Given the description of an element on the screen output the (x, y) to click on. 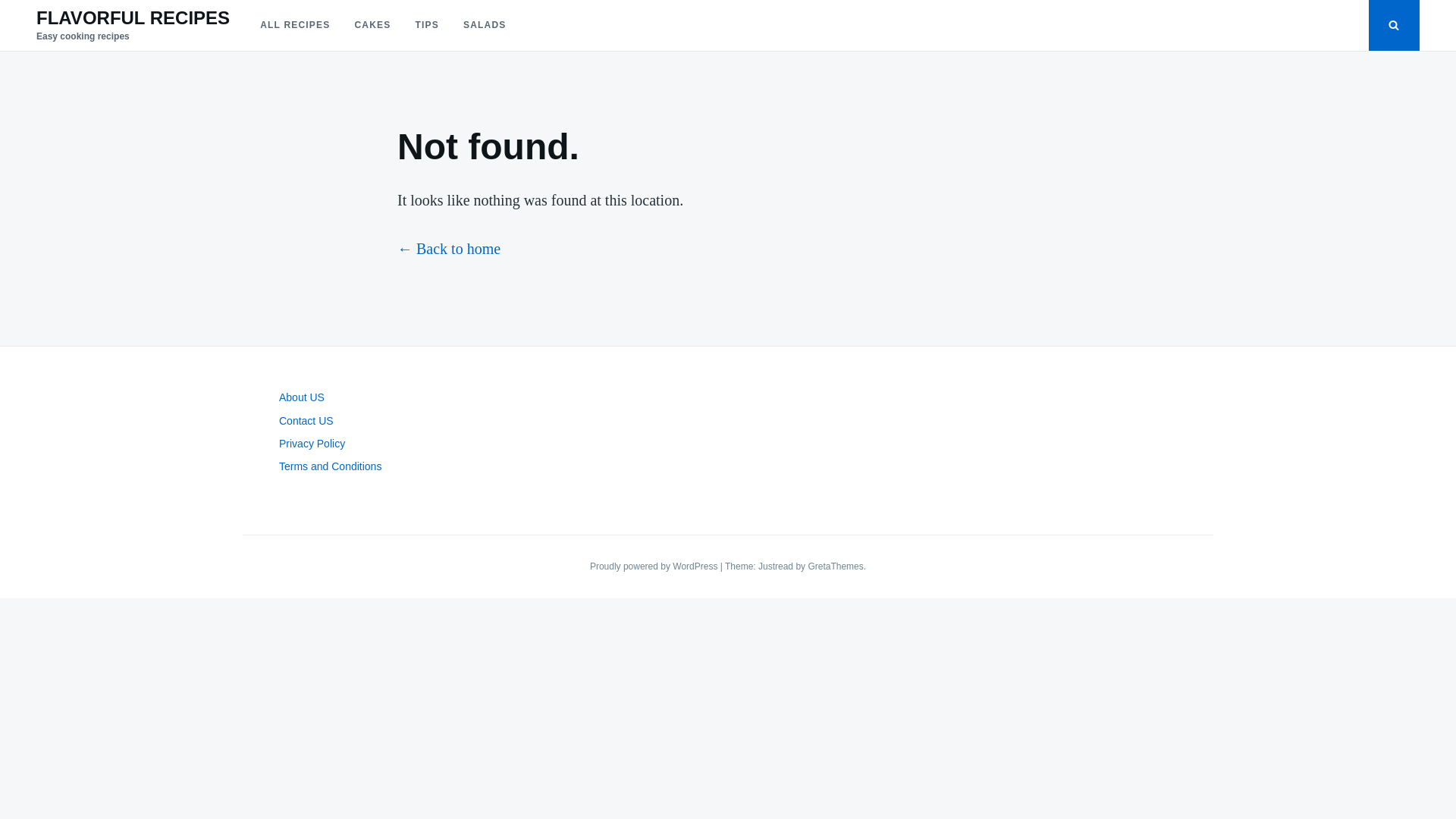
About US (301, 397)
Proudly powered by WordPress (654, 566)
TIPS (426, 25)
CAKES (372, 25)
FLAVORFUL RECIPES (133, 17)
SALADS (484, 25)
Contact US (306, 420)
Privacy Policy (312, 443)
ALL RECIPES (294, 25)
Terms and Conditions (330, 466)
